Given the description of an element on the screen output the (x, y) to click on. 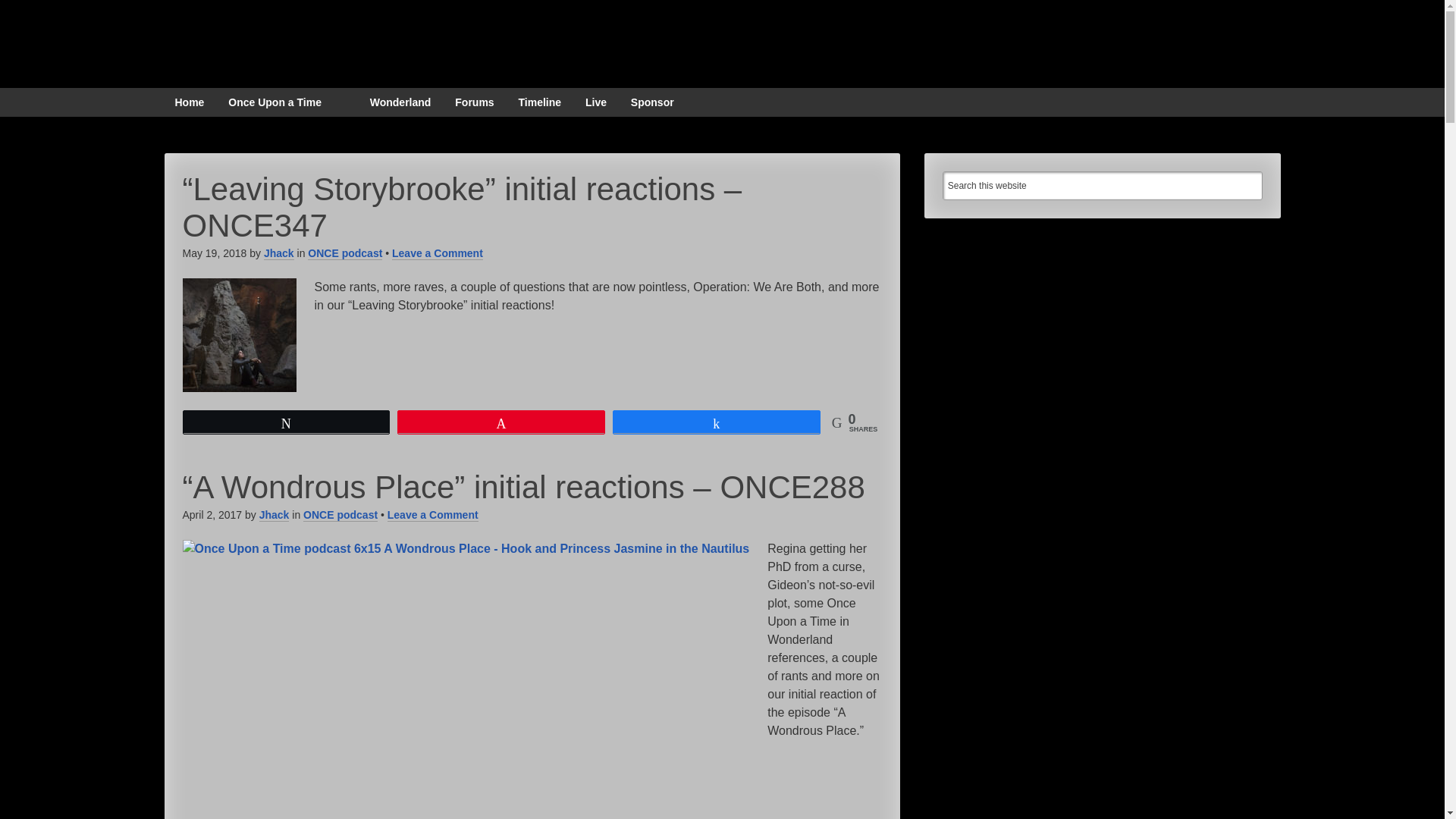
Leave a Comment (433, 514)
ONCE podcast (339, 514)
Live (596, 102)
Home (188, 102)
Jhack (274, 514)
Once Upon a Time (273, 102)
Forums (473, 102)
Jhack (278, 253)
ONCE - Once Upon a Time podcast (242, 39)
Sponsor (652, 102)
ONCE podcast (344, 253)
Timeline (540, 102)
Wonderland (400, 102)
